Given the description of an element on the screen output the (x, y) to click on. 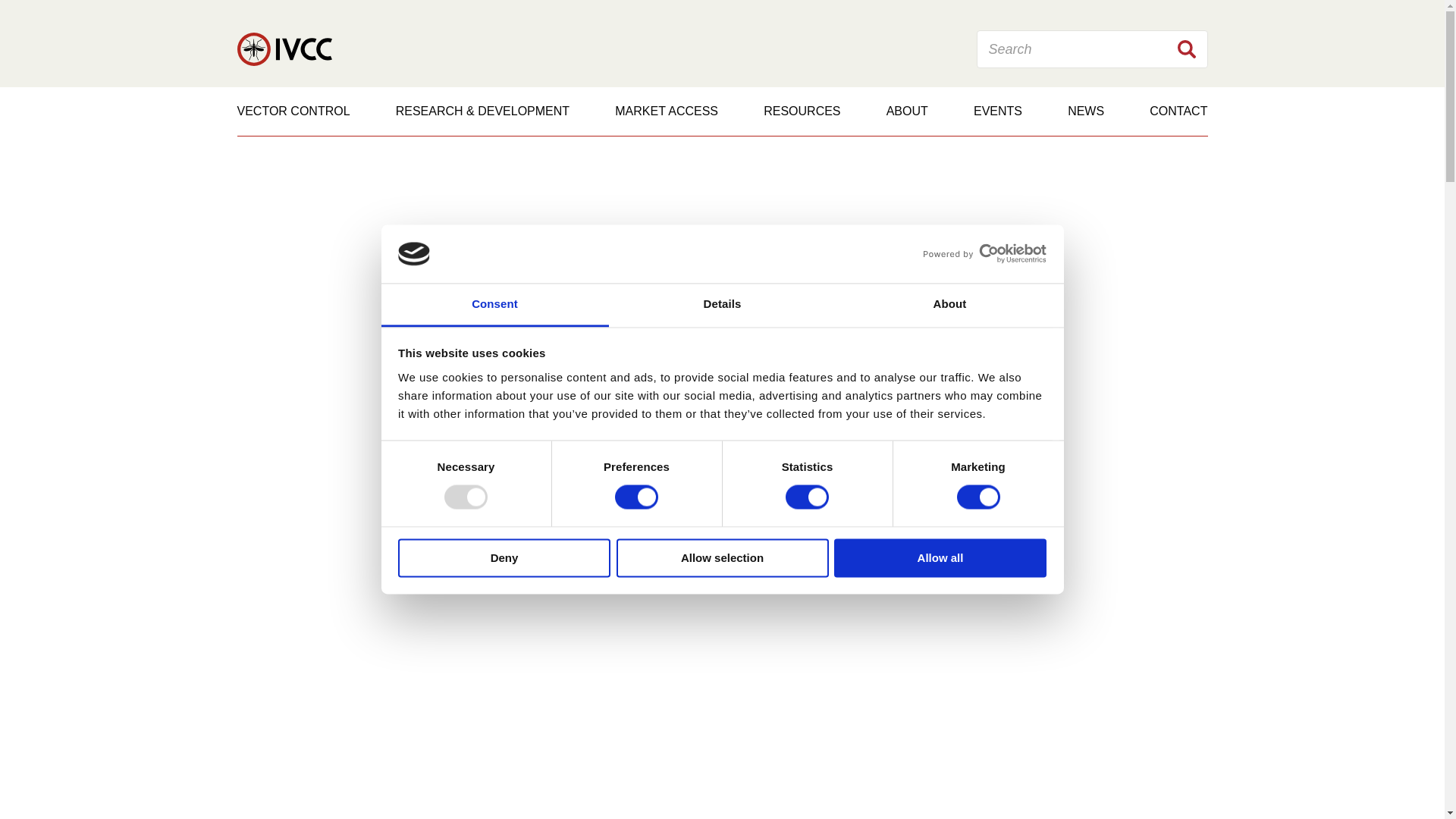
Details (721, 304)
Allow selection (721, 557)
Consent (494, 304)
IVCC (283, 48)
Allow all (940, 557)
Deny (503, 557)
About (948, 304)
